Given the description of an element on the screen output the (x, y) to click on. 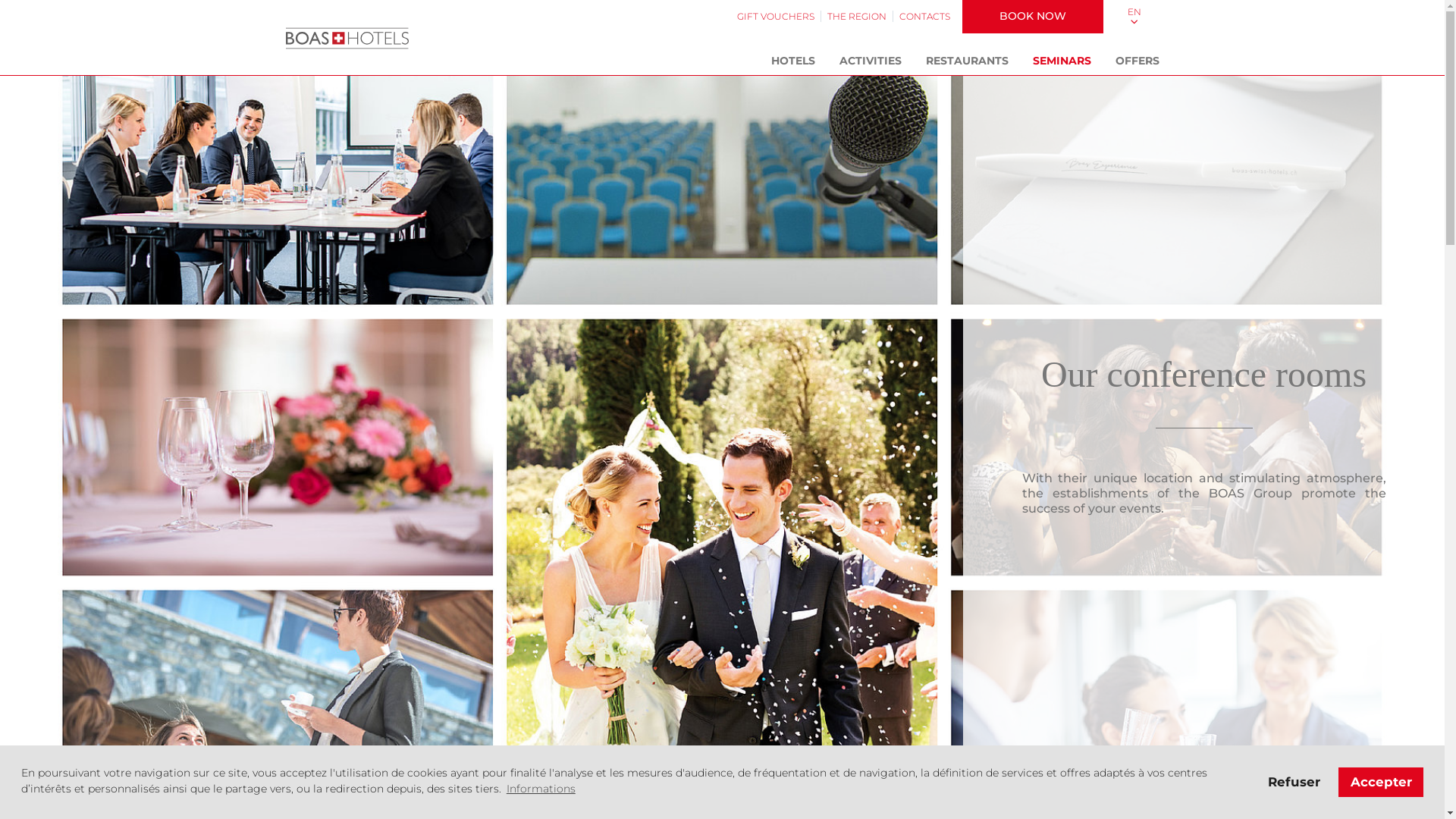
Refuser Element type: text (1294, 781)
Accepter Element type: text (1380, 781)
Informations Element type: text (540, 788)
THE REGION Element type: text (855, 16)
EN Element type: text (1133, 16)
ACTIVITIES Element type: text (869, 61)
OFFERS Element type: text (1136, 61)
CONTACTS Element type: text (924, 16)
RESTAURANTS Element type: text (966, 61)
SEMINARS Element type: text (1061, 61)
GIFT VOUCHERS Element type: text (775, 16)
BOOK NOW Element type: text (1031, 16)
HOTELS Element type: text (792, 61)
